Given the description of an element on the screen output the (x, y) to click on. 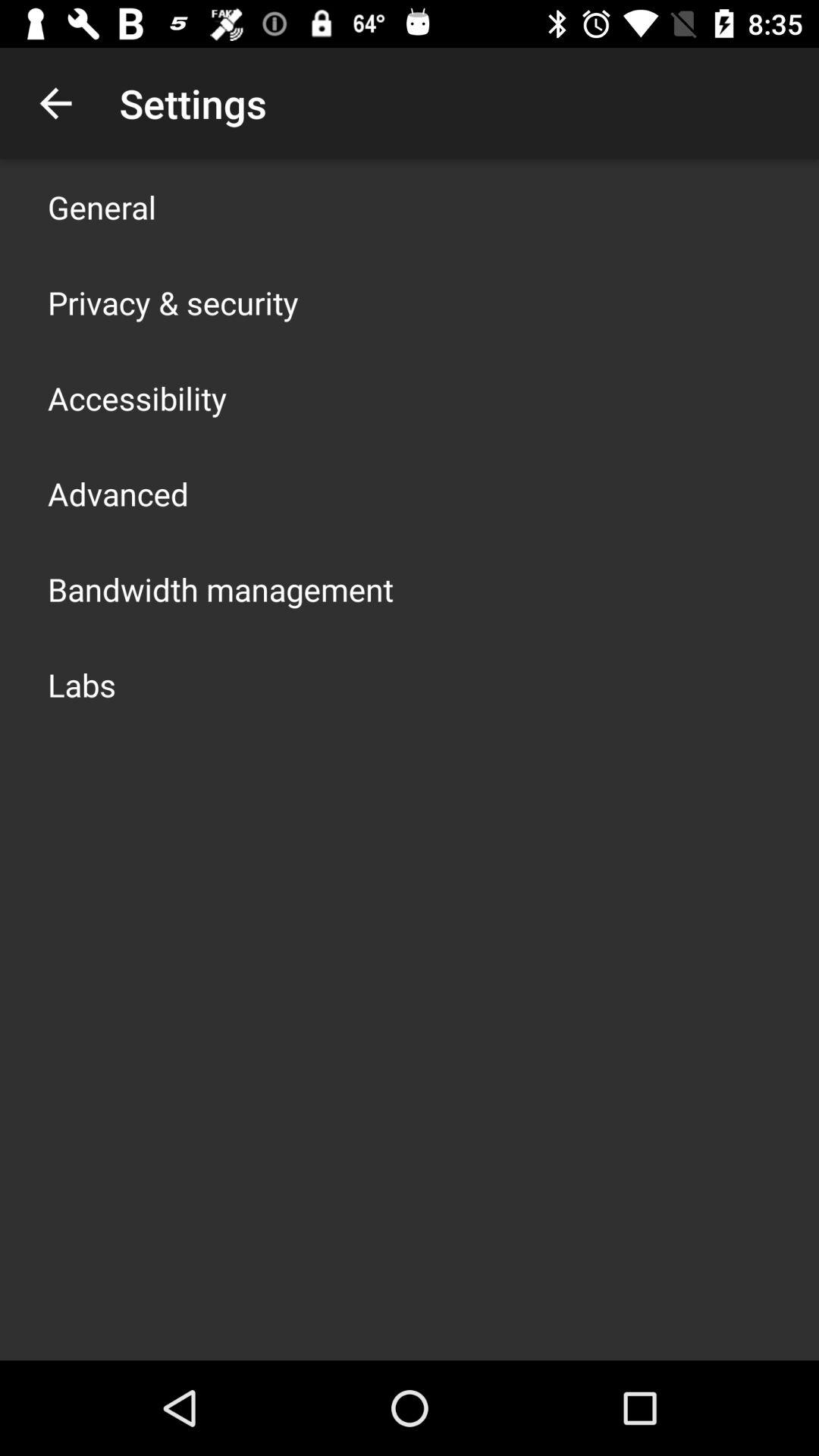
select the app below the accessibility app (117, 493)
